Given the description of an element on the screen output the (x, y) to click on. 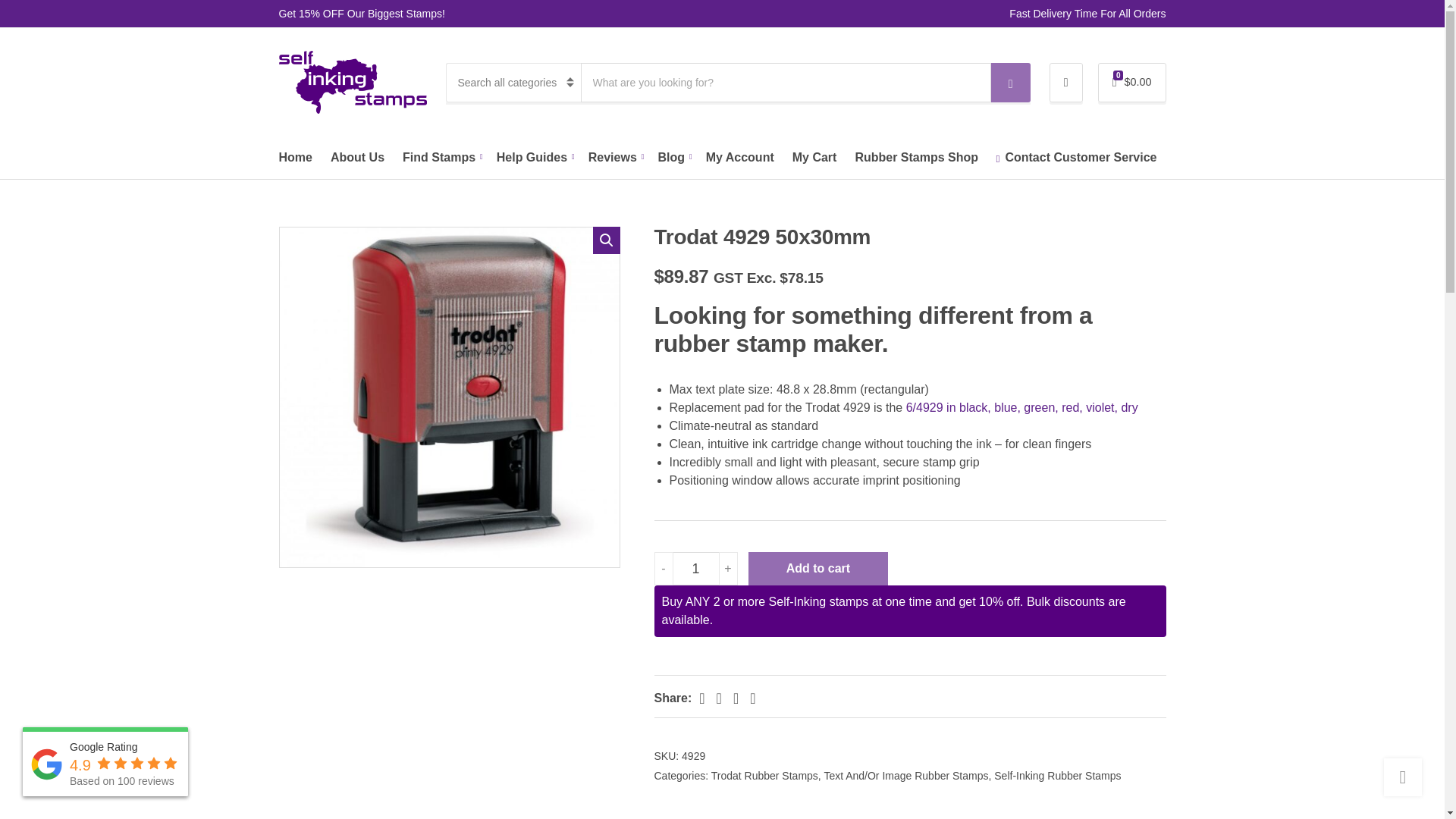
Find Stamps (441, 157)
1 (695, 568)
Trodat-4929-50X30Mm-2-1.Jpg (448, 397)
Help Guides (533, 157)
About Us (357, 157)
Search (1010, 82)
